Given the description of an element on the screen output the (x, y) to click on. 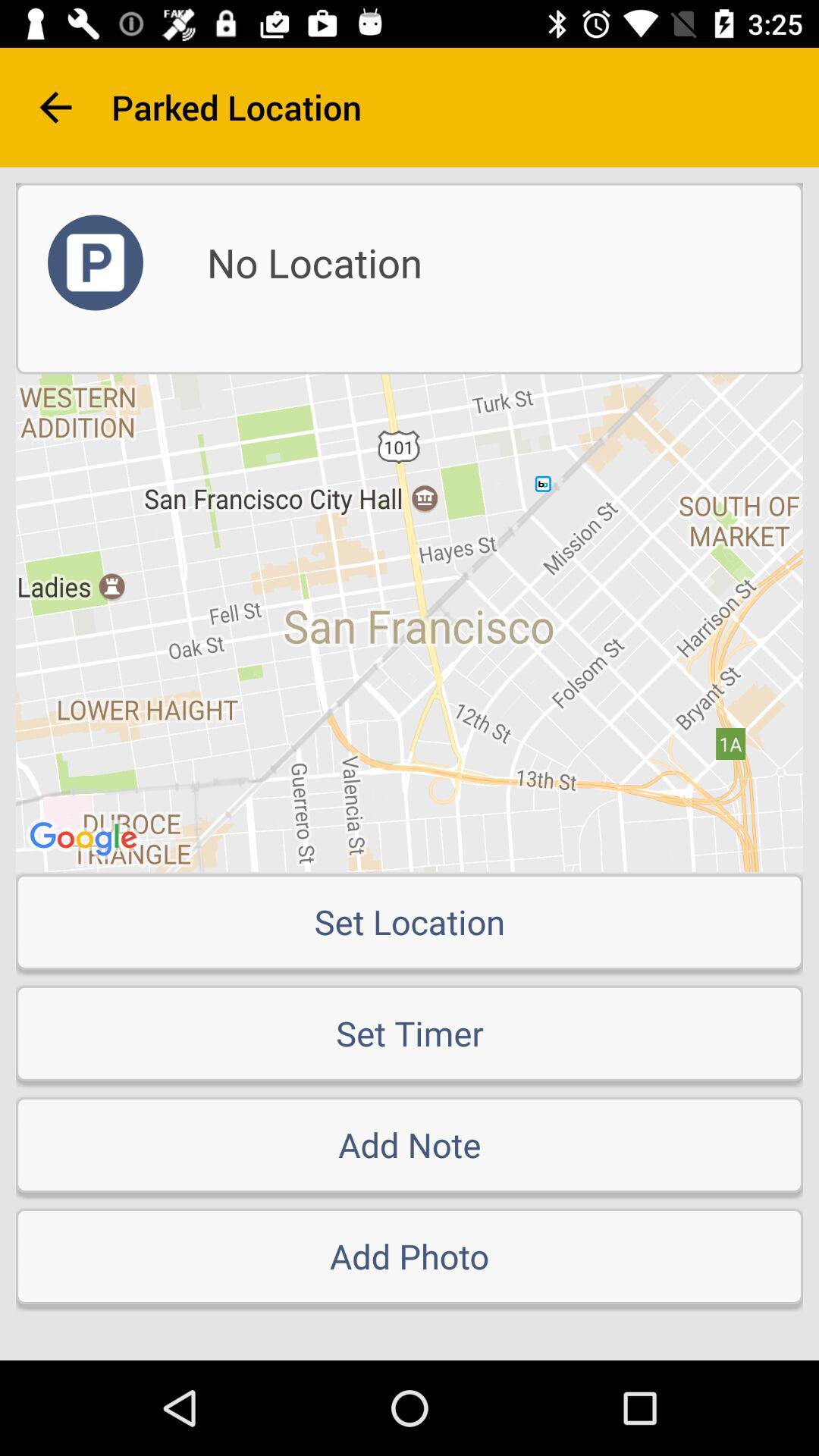
click set location icon (409, 921)
